Given the description of an element on the screen output the (x, y) to click on. 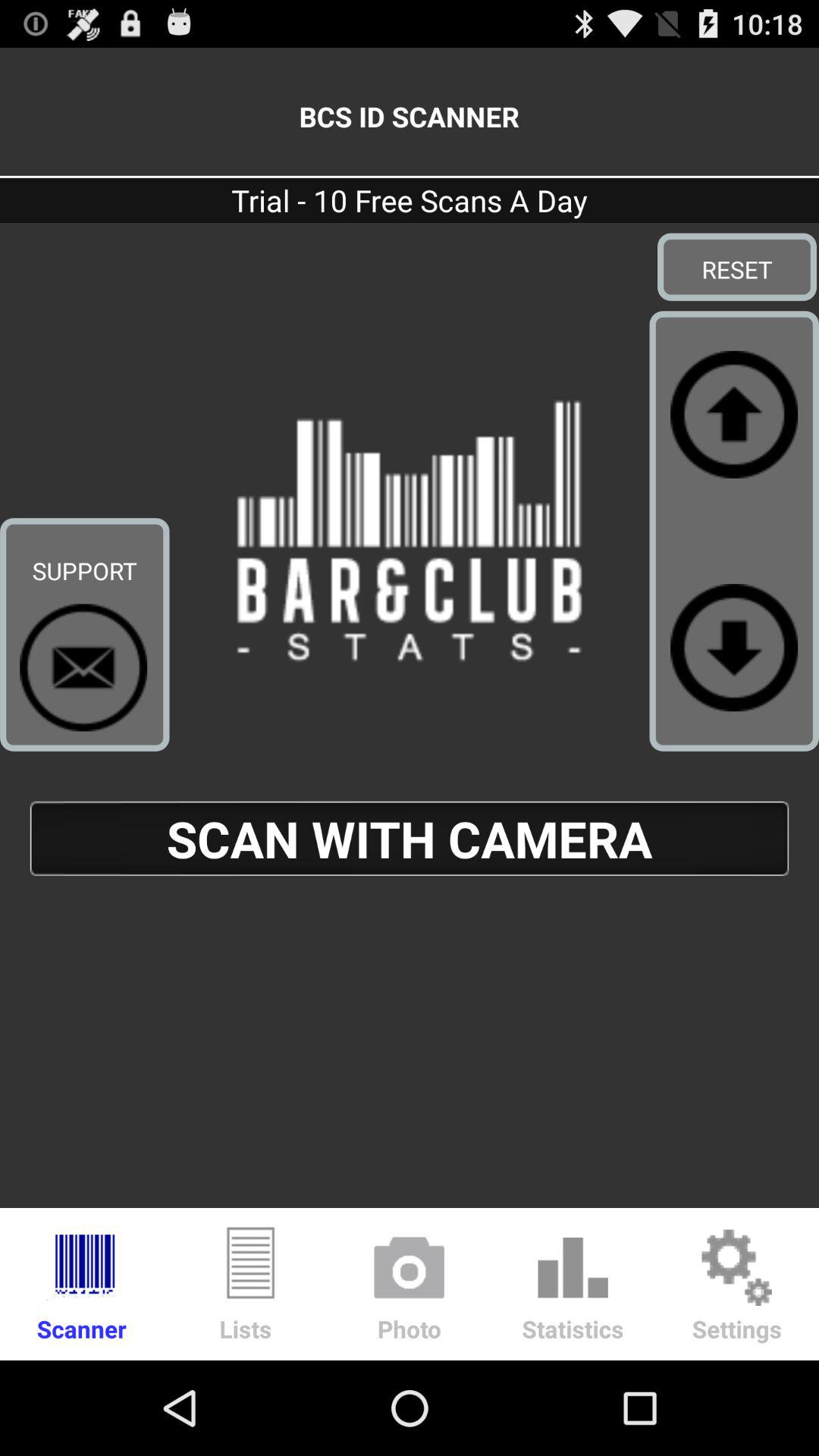
send email (83, 667)
